Given the description of an element on the screen output the (x, y) to click on. 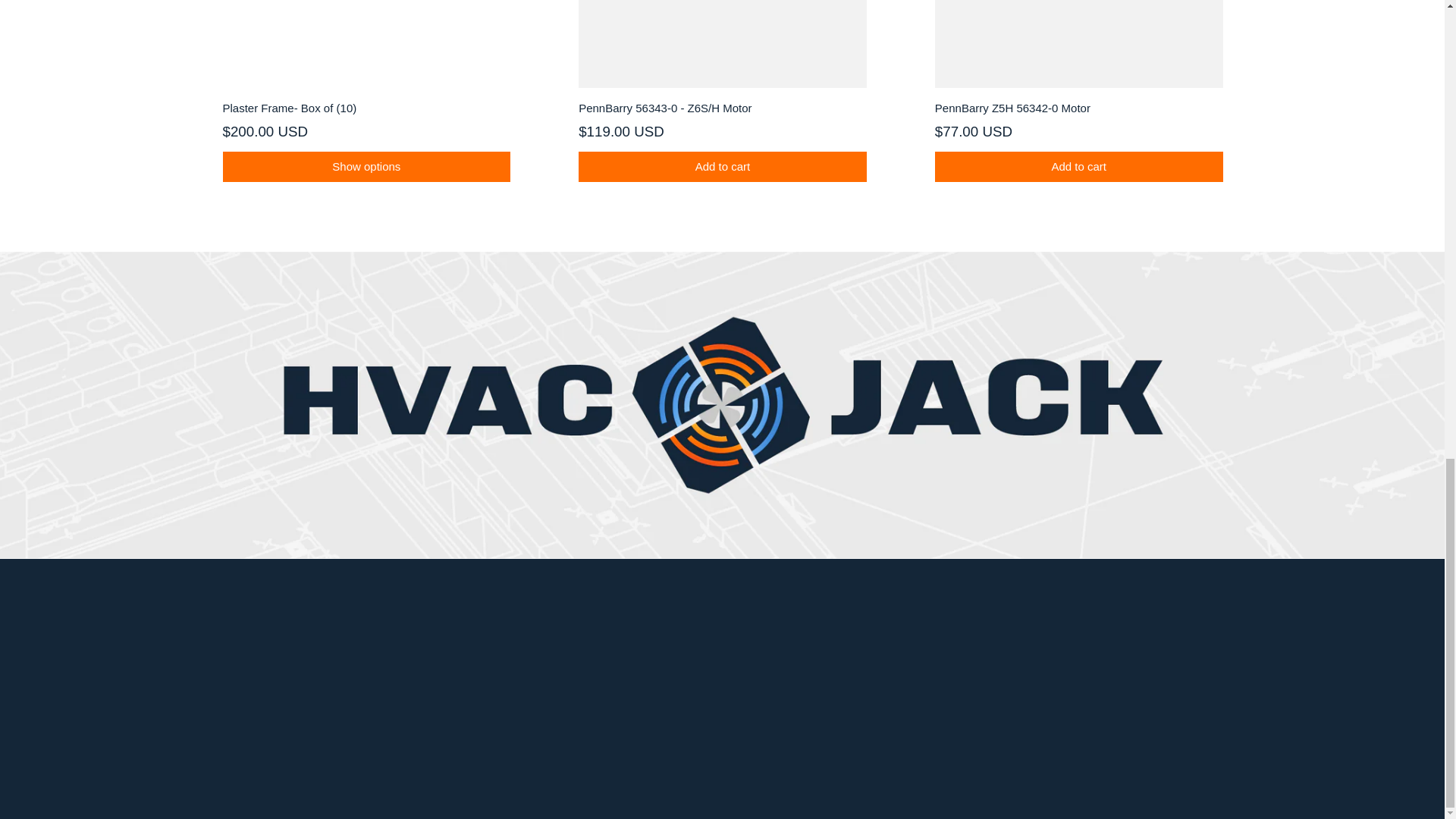
Show options (366, 166)
Add to cart (1078, 166)
PennBarry Z5H 56342-0 Motor (1078, 108)
Add to cart (722, 166)
